Given the description of an element on the screen output the (x, y) to click on. 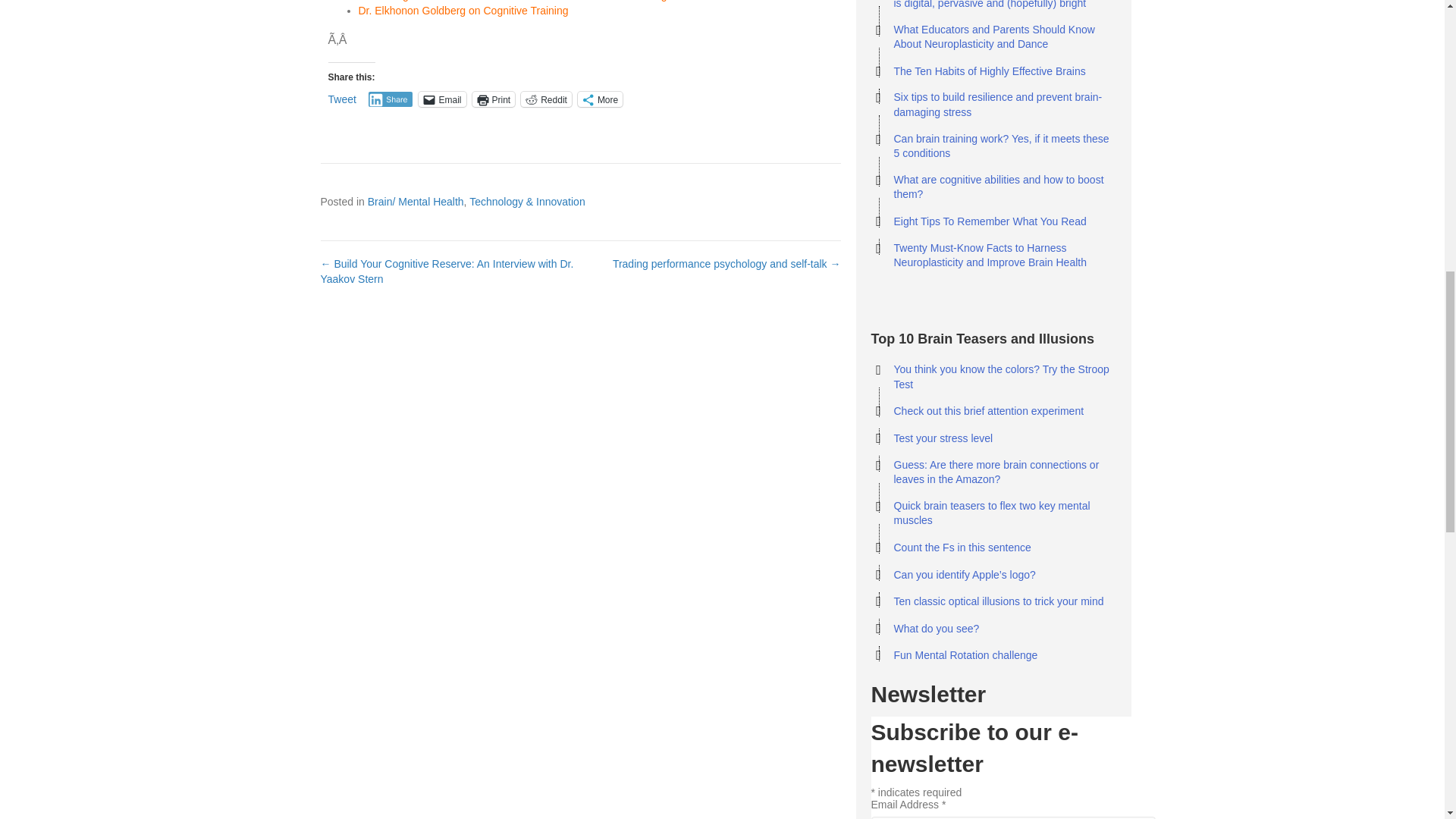
Click to email a link to a friend (442, 99)
Click to print (493, 99)
Click to share on Reddit (546, 99)
